Given the description of an element on the screen output the (x, y) to click on. 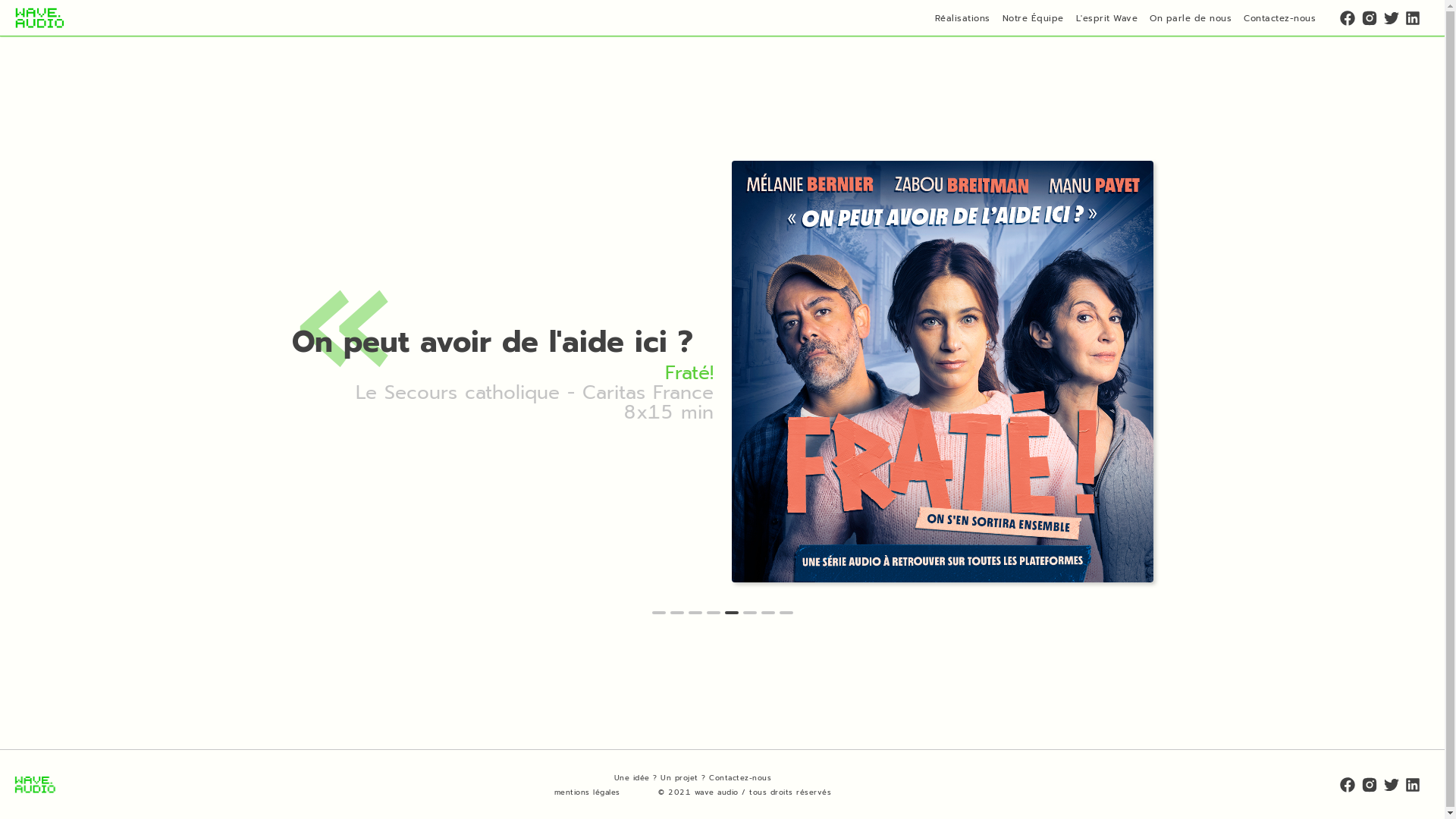
Contactez-nous Element type: text (1279, 17)
L'esprit Wave Element type: text (1106, 17)
On parle de nous Element type: text (1190, 17)
